Given the description of an element on the screen output the (x, y) to click on. 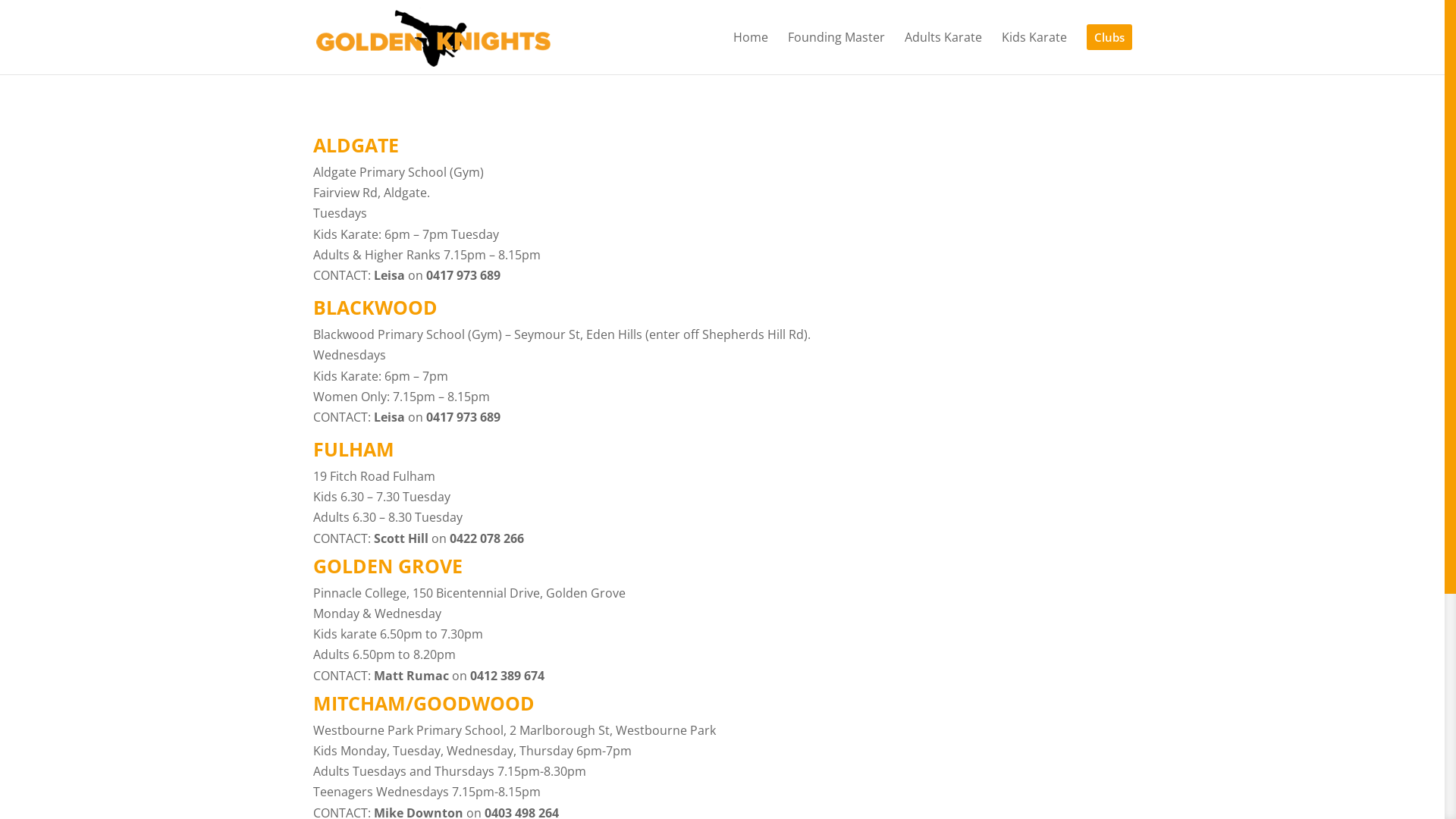
Home Element type: text (749, 51)
Kids Karate Element type: text (1033, 51)
Founding Master Element type: text (835, 51)
Web and Print Hub Element type: text (693, 785)
Adults Karate Element type: text (942, 51)
Clubs Element type: text (1108, 49)
